Given the description of an element on the screen output the (x, y) to click on. 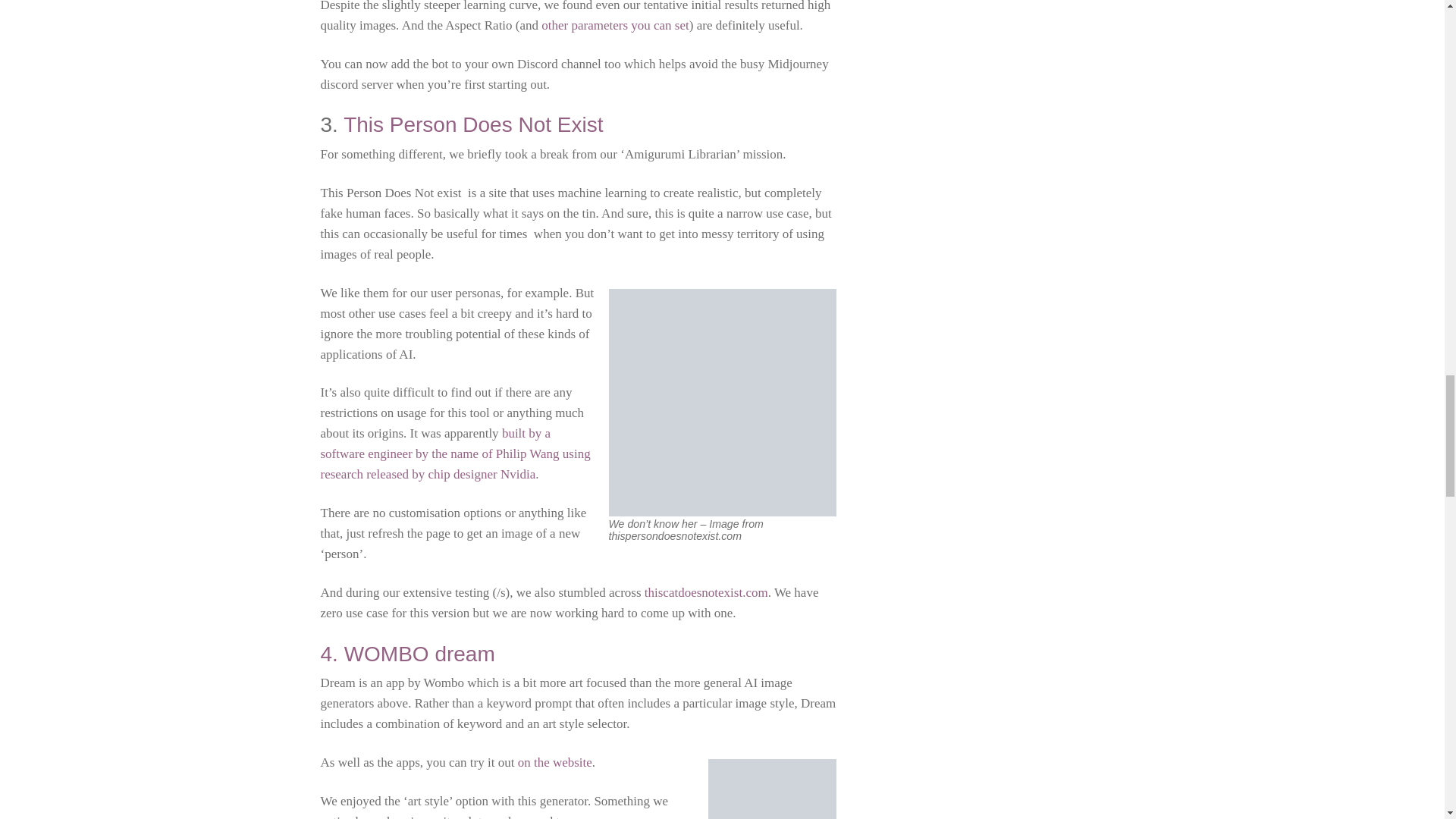
other parameters you can set (614, 25)
thiscatdoesnotexist.com (706, 592)
4. WOMBO dream (407, 653)
This Person Does Not Exist (472, 124)
on the website (555, 762)
